Given the description of an element on the screen output the (x, y) to click on. 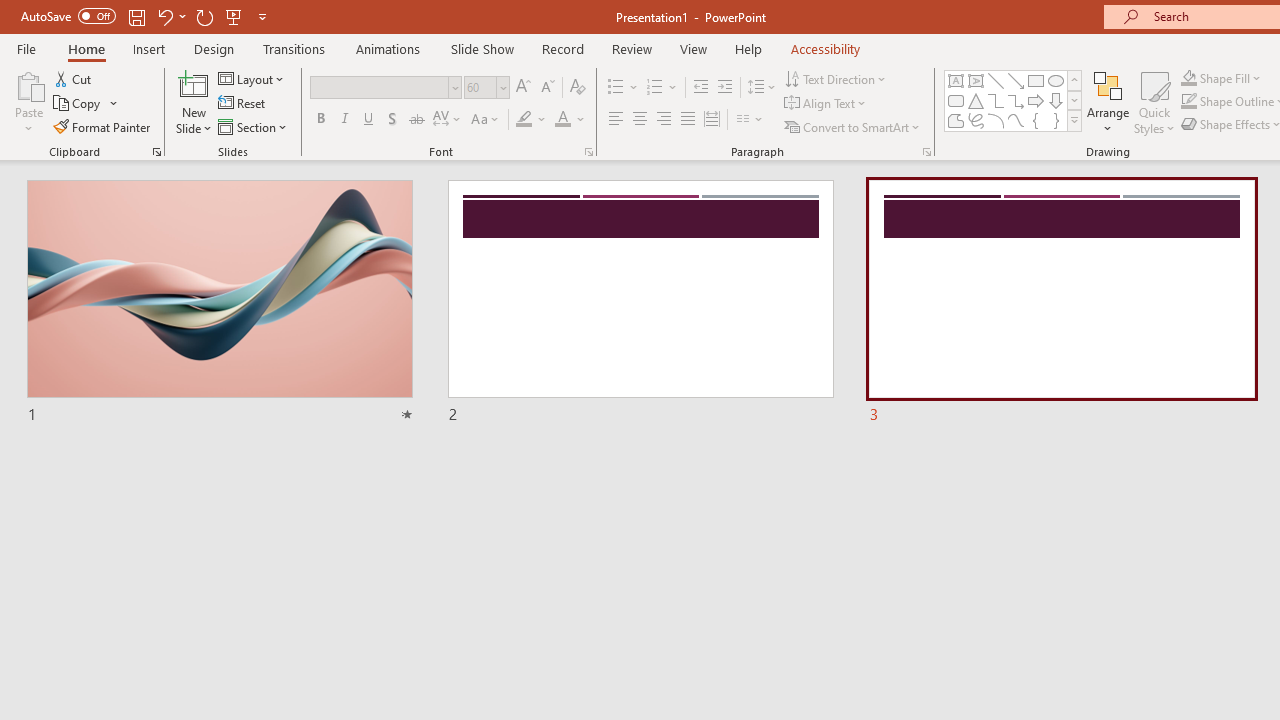
Shape Outline Blue, Accent 1 (1188, 101)
